Given the description of an element on the screen output the (x, y) to click on. 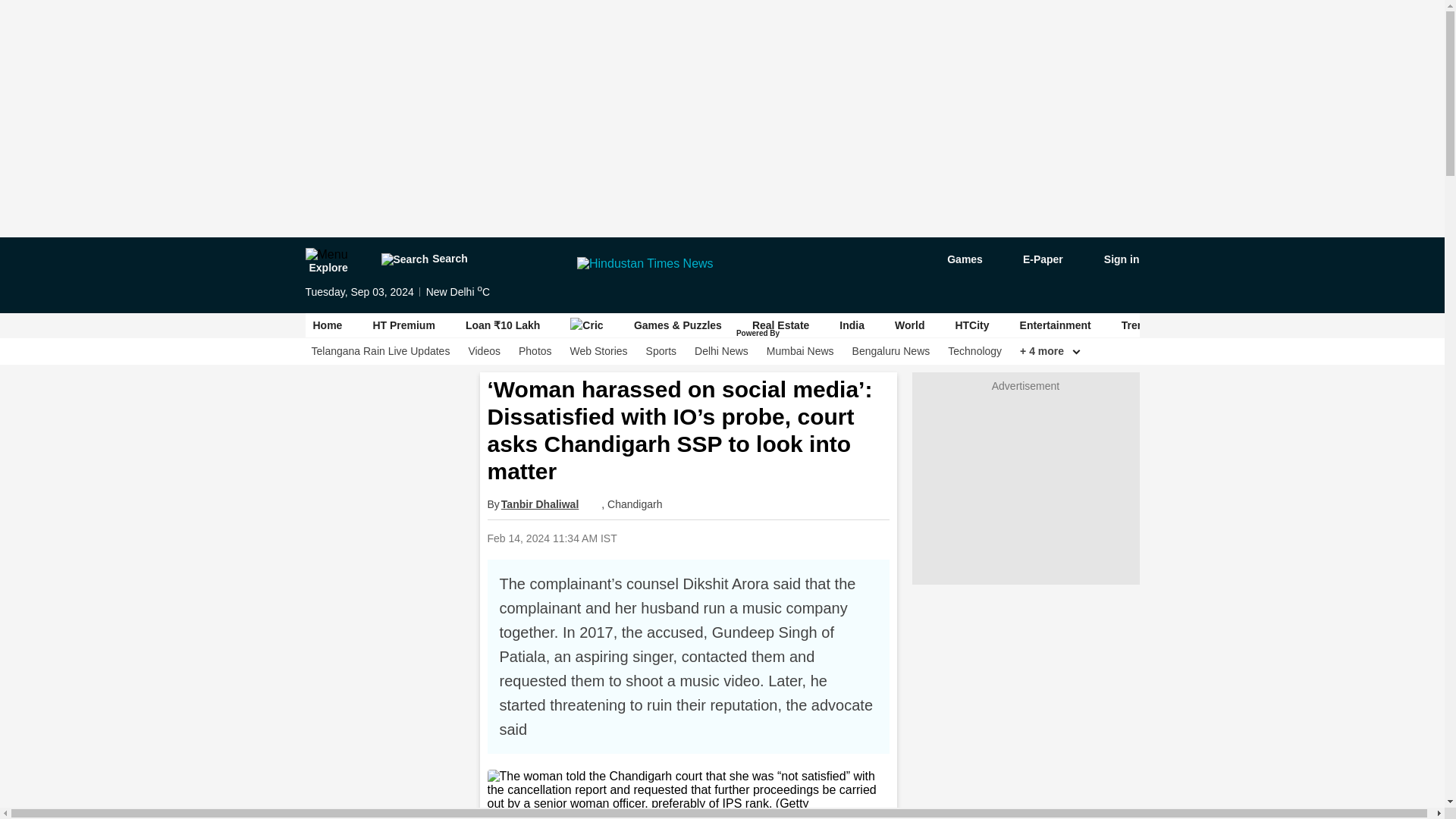
Search (423, 258)
Education (1374, 325)
Bengaluru News (890, 350)
Share on Twitter (749, 537)
India (852, 325)
Web Stories (598, 350)
Share on Facebook (710, 537)
Trending (1143, 325)
E-Paper (1034, 258)
Delhi News (721, 350)
